Given the description of an element on the screen output the (x, y) to click on. 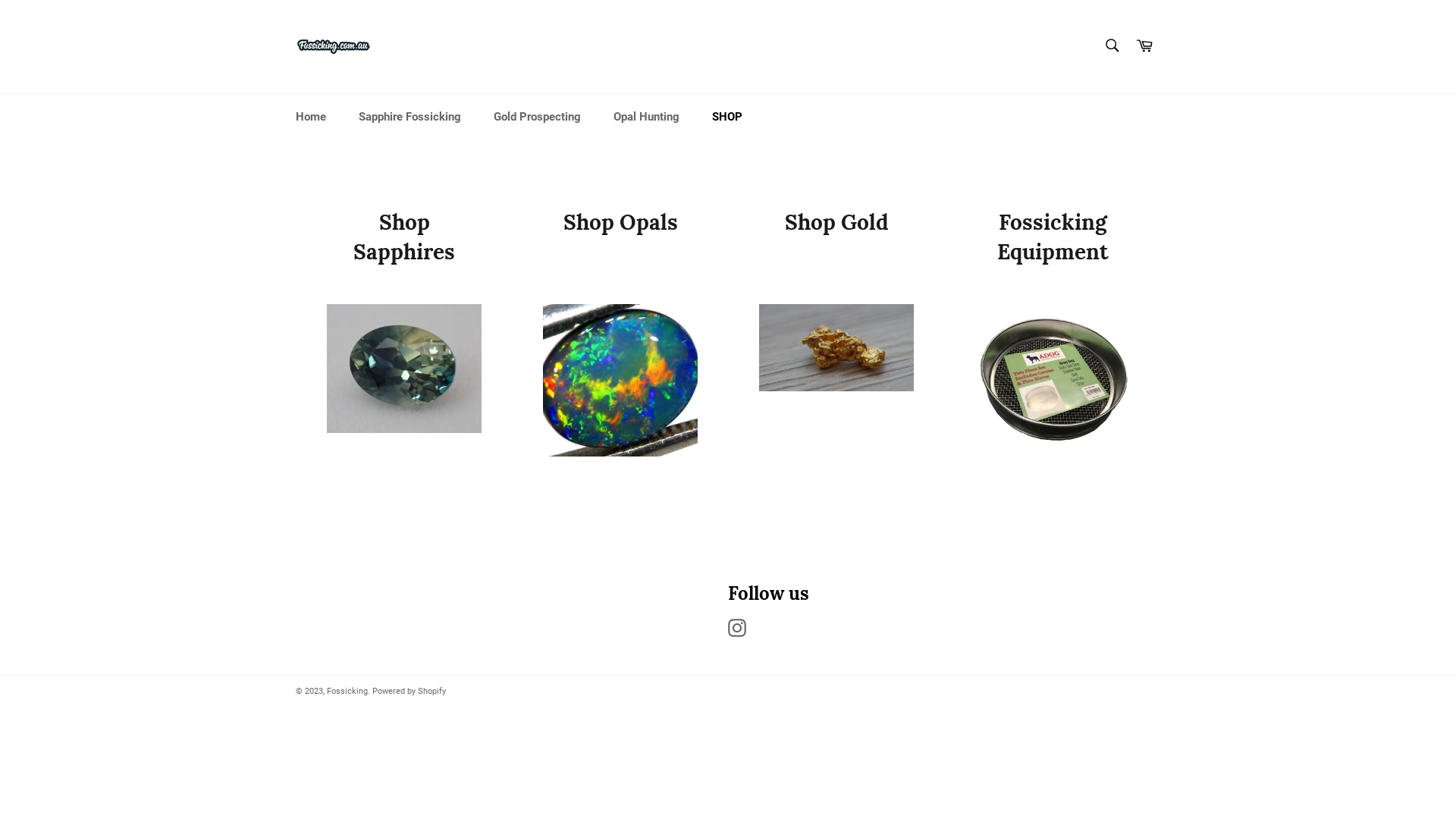
Cart Element type: text (1144, 46)
Gold Prospecting Element type: text (537, 117)
Home Element type: text (310, 117)
Opal Hunting Element type: text (646, 117)
Fossicking Element type: text (346, 691)
Powered by Shopify Element type: text (408, 691)
Sapphire Fossicking Element type: text (409, 117)
Search Element type: text (1111, 45)
Shop Opals
View all Element type: text (619, 337)
Shop Sapphires
View all Element type: text (403, 337)
Shop Gold
View all Element type: text (836, 337)
SHOP Element type: text (726, 117)
Fossicking Equipment
View all Element type: text (1052, 337)
Instagram Element type: text (740, 627)
